Given the description of an element on the screen output the (x, y) to click on. 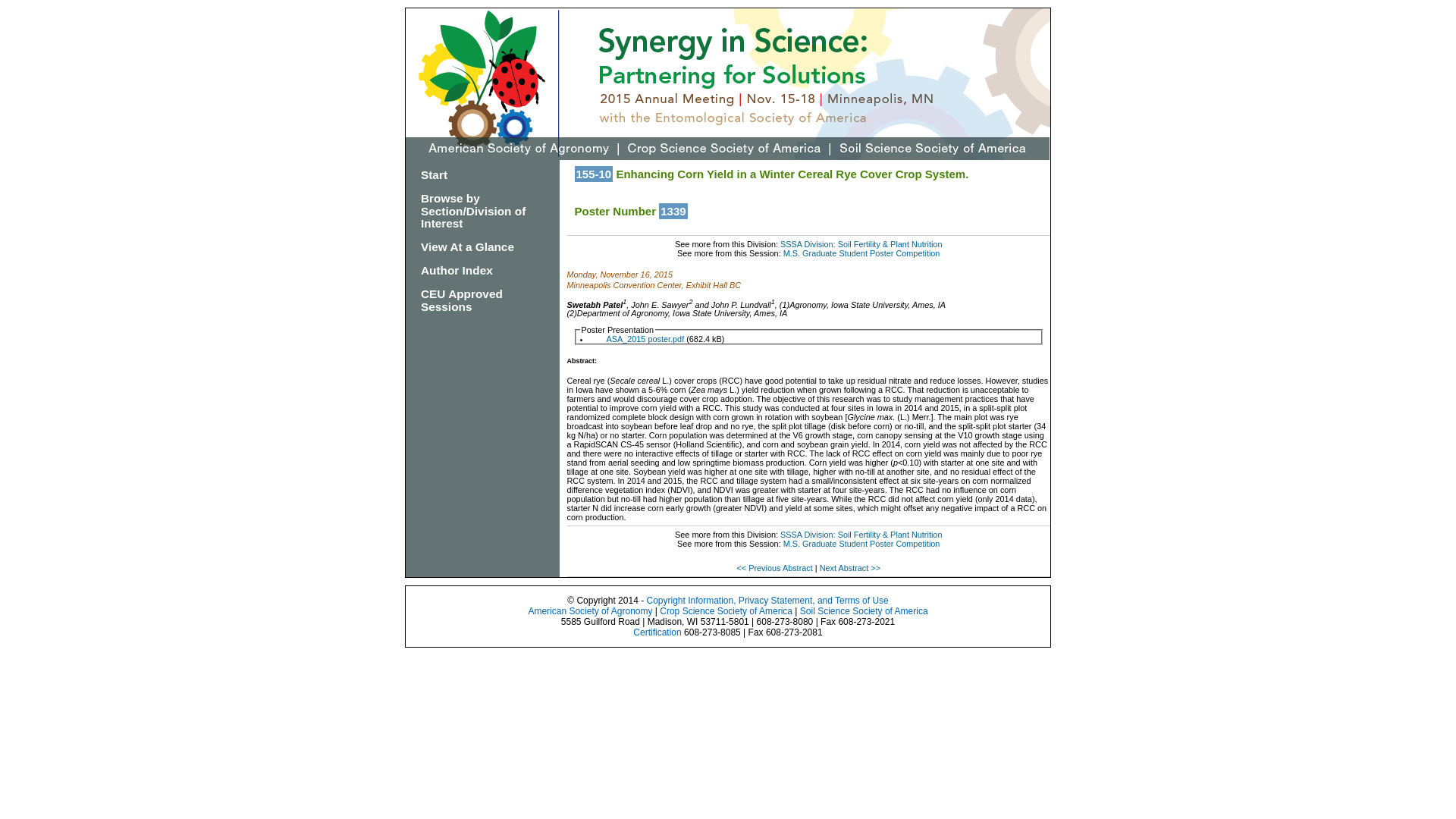
CEU Approved Sessions (461, 299)
M.S. Graduate Student Poster Competition (861, 542)
Soil Science Society of America (863, 611)
American Society of Agronomy (589, 611)
Crop Science Society of America (725, 611)
Start (433, 174)
Copyright Information, Privacy Statement, and Terms of Use (767, 600)
View At a Glance (466, 246)
Certification (657, 632)
Author Index (456, 269)
M.S. Graduate Student Poster Competition (861, 252)
